Given the description of an element on the screen output the (x, y) to click on. 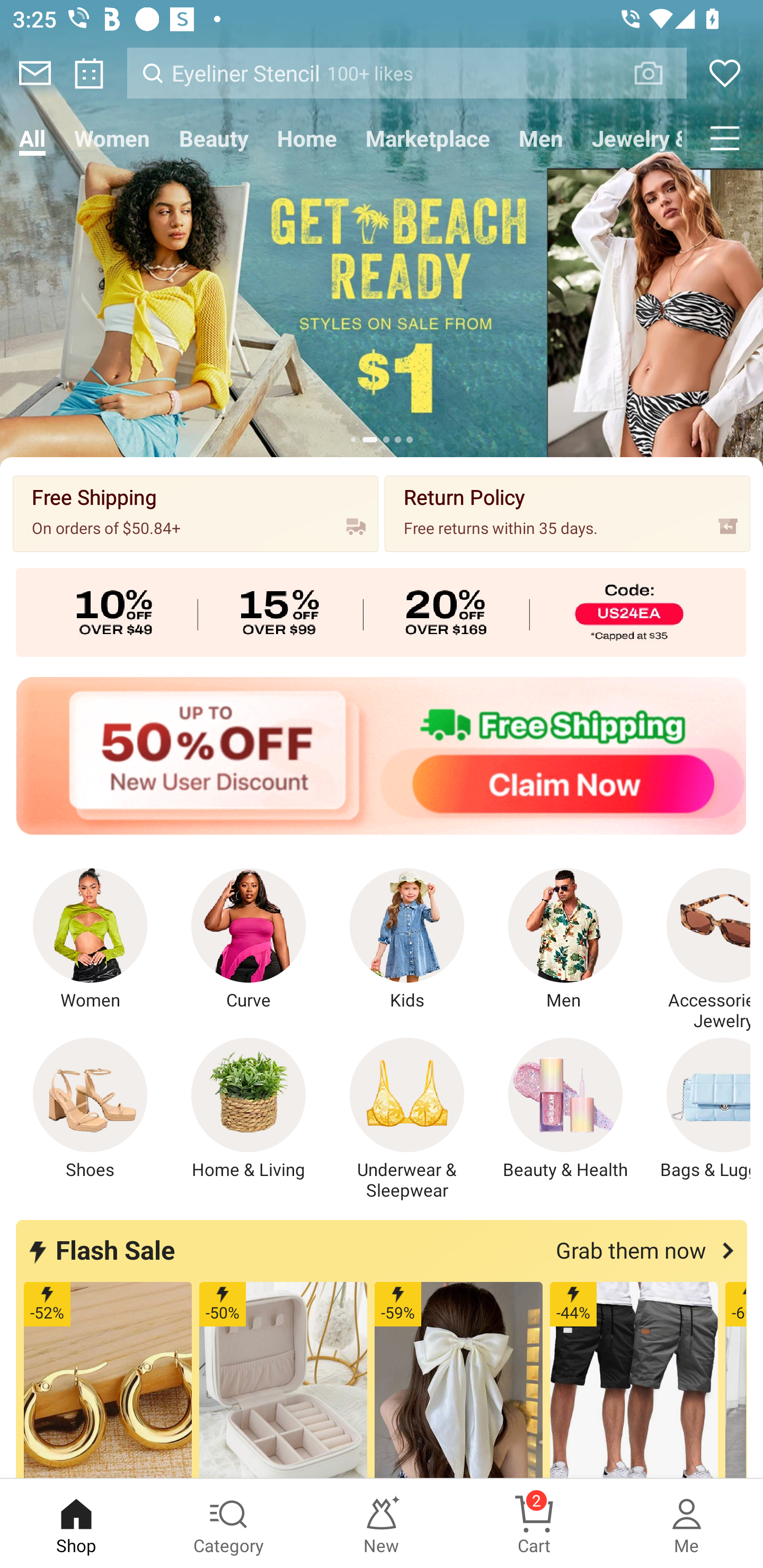
Wishlist (724, 72)
VISUAL SEARCH (657, 72)
All (31, 137)
Women (111, 137)
Beauty (213, 137)
Home (306, 137)
Marketplace (427, 137)
Men (540, 137)
Jewelry & Accs (631, 137)
Free Shipping On orders of $50.84+ (195, 513)
Return Policy Free returns within 35 days. (567, 513)
Women (89, 939)
Curve (248, 939)
Kids (406, 939)
Men  (565, 939)
Accessories & Jewelry (698, 949)
Shoes (89, 1109)
Home & Living (248, 1109)
Underwear & Sleepwear (406, 1119)
Beauty & Health (565, 1109)
Bags & Luggage (698, 1109)
Category (228, 1523)
New (381, 1523)
Cart 2 Cart (533, 1523)
Me (686, 1523)
